Given the description of an element on the screen output the (x, y) to click on. 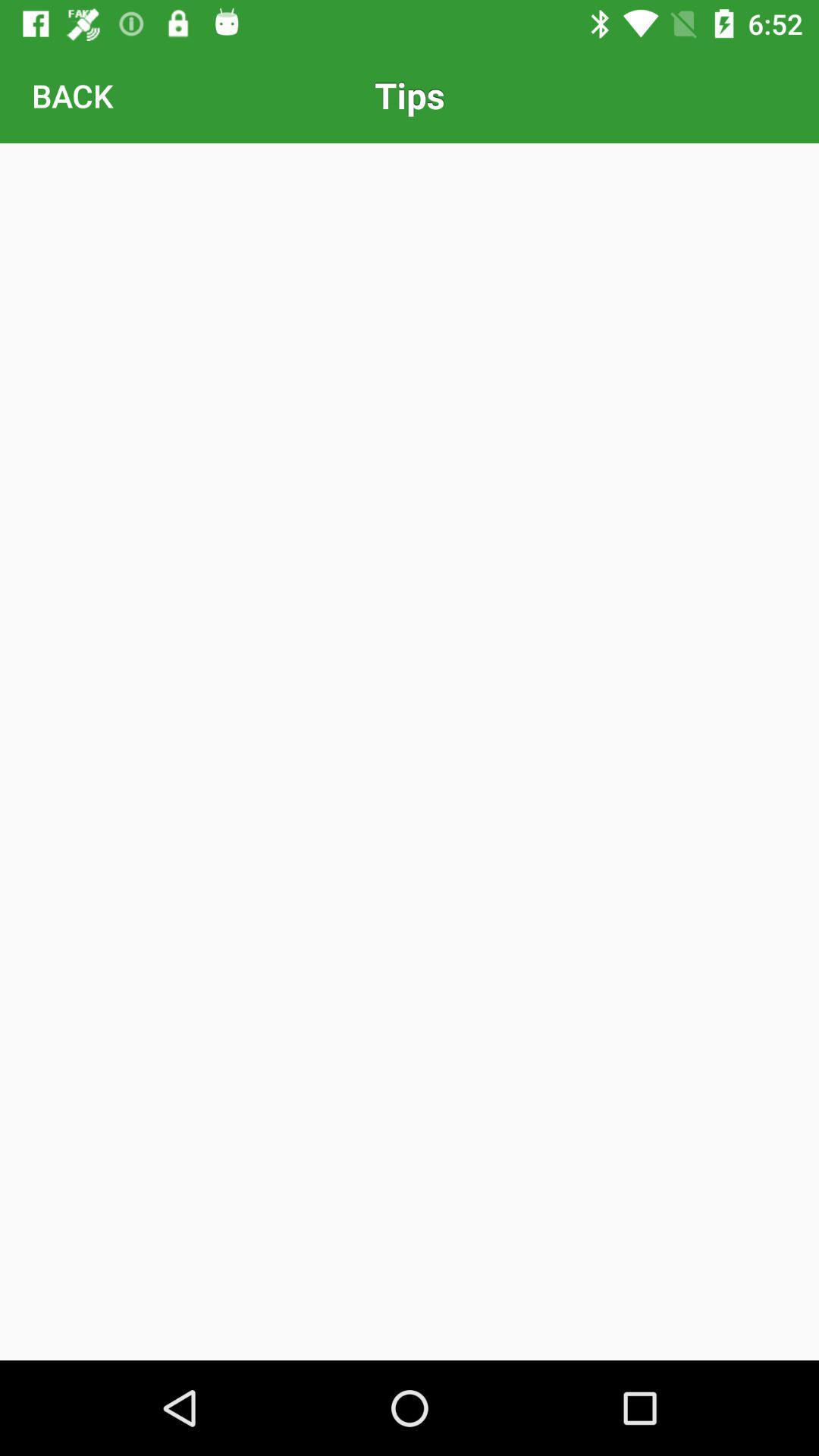
swipe to the back (72, 95)
